Given the description of an element on the screen output the (x, y) to click on. 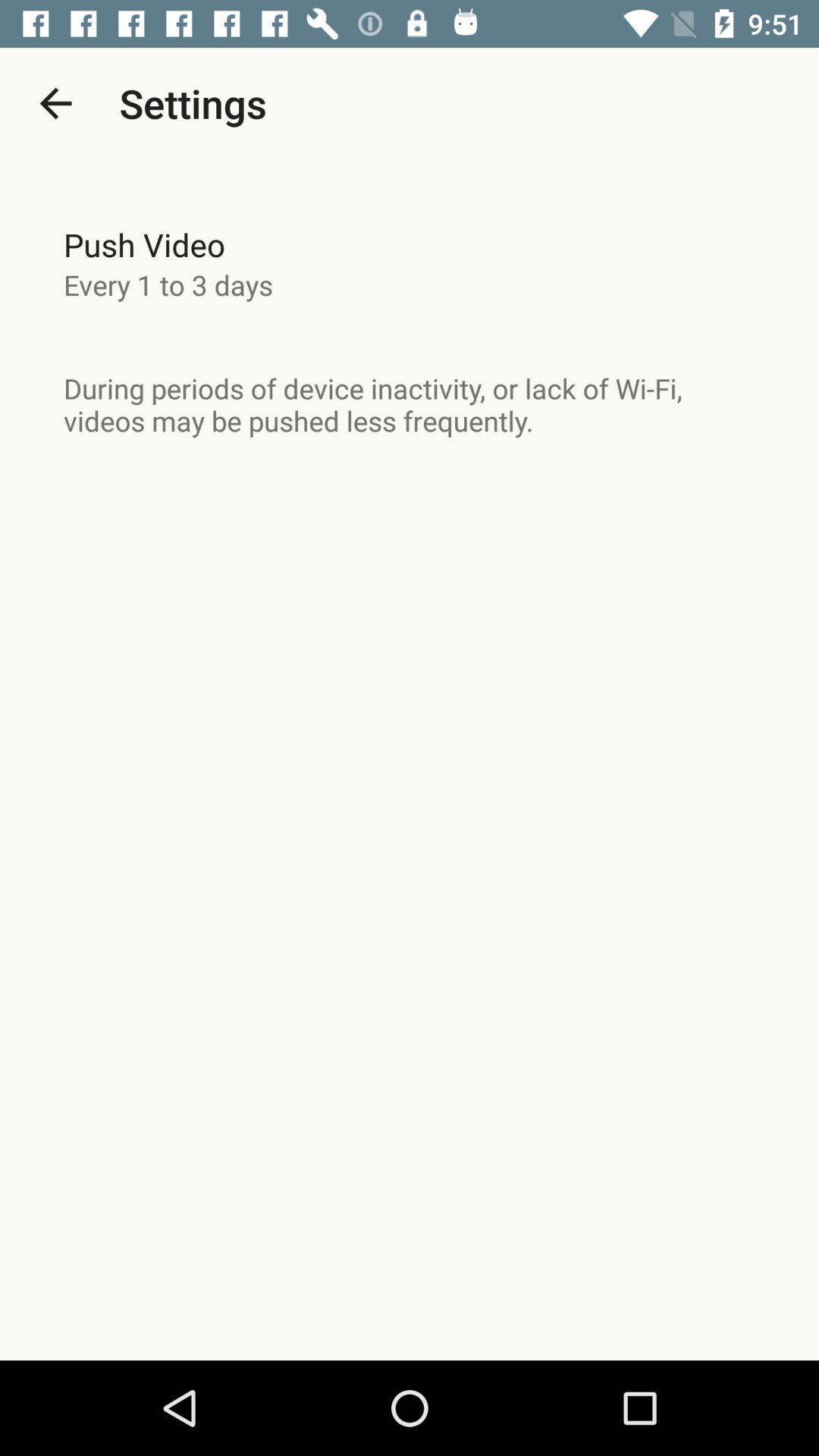
press the item above the every 1 to icon (144, 244)
